Given the description of an element on the screen output the (x, y) to click on. 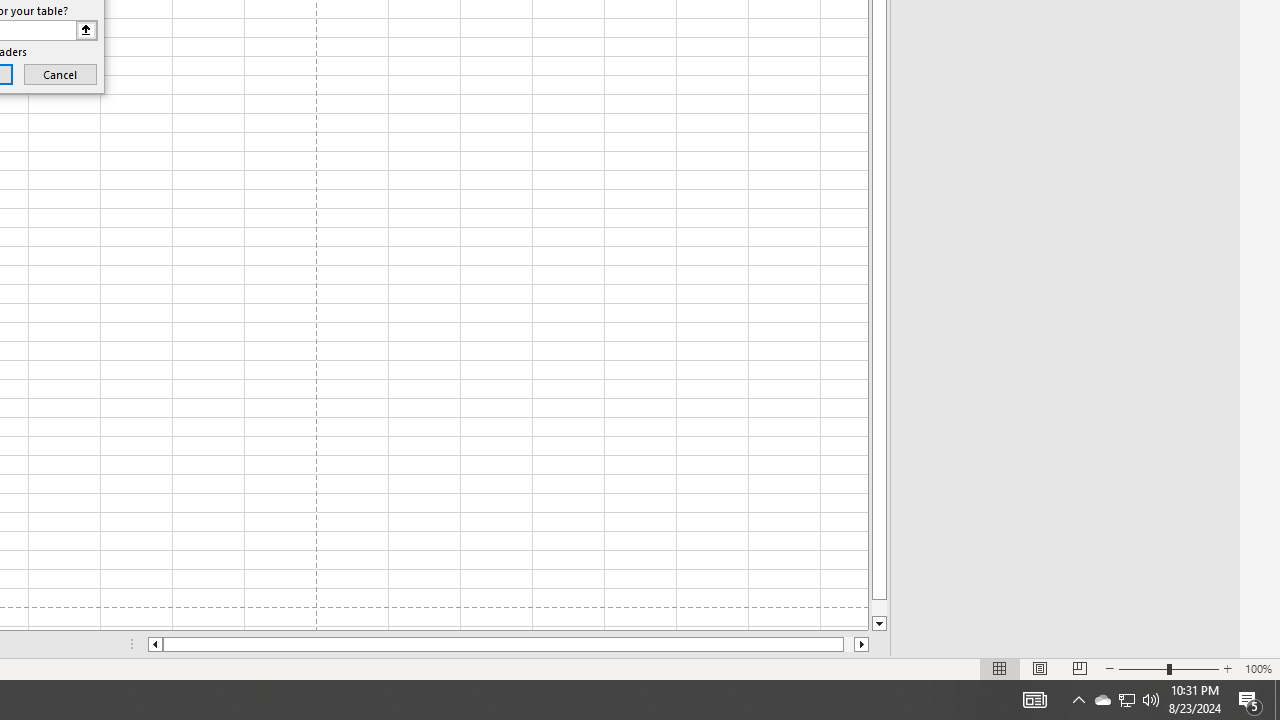
Zoom (1168, 668)
Zoom Out (1142, 668)
Class: NetUIScrollBar (507, 644)
Column right (861, 644)
Normal (1000, 668)
Page down (879, 607)
Zoom In (1227, 668)
Page Break Preview (1079, 668)
Page right (848, 644)
Column left (153, 644)
Page Layout (1039, 668)
Line down (879, 624)
